Given the description of an element on the screen output the (x, y) to click on. 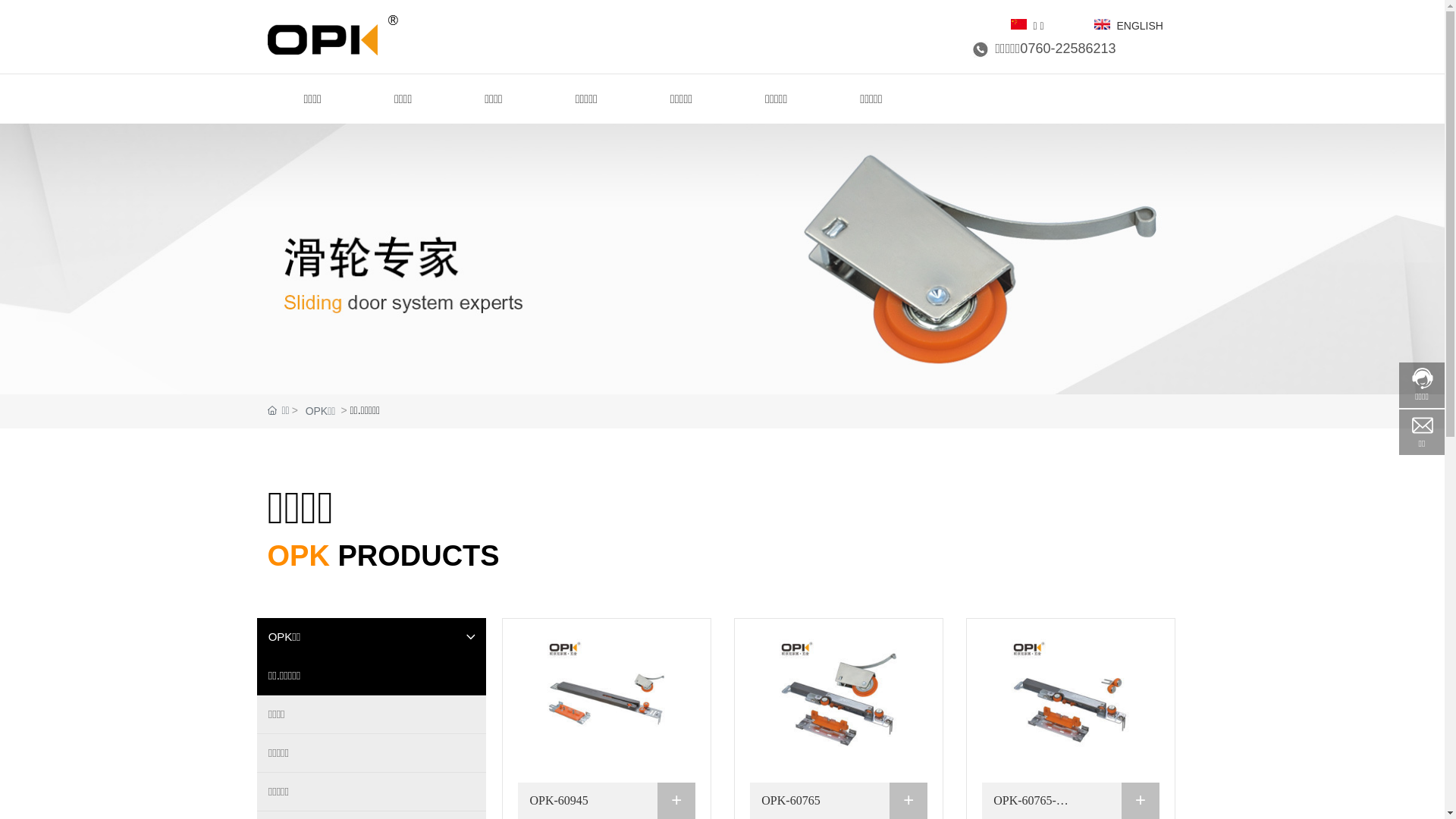
OPK-60765-OK1 Element type: hover (1070, 700)
Products Element type: hover (722, 258)
OPK-60765 Element type: hover (838, 700)
OPK-60945 Element type: hover (606, 700)
OPK Element type: hover (331, 35)
OPK-60945 Element type: text (558, 799)
OPK-60765 Element type: text (790, 799)
cn Element type: hover (1018, 23)
